Given the description of an element on the screen output the (x, y) to click on. 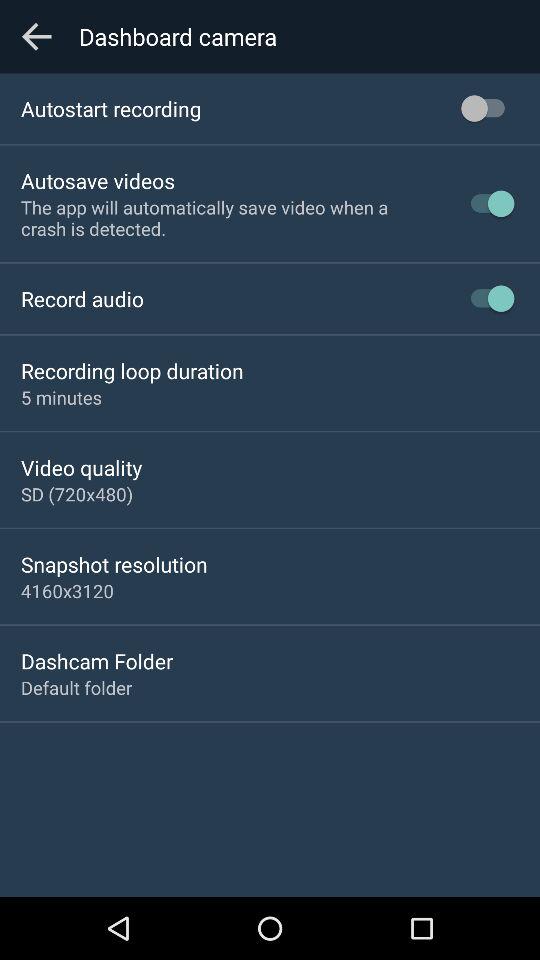
launch app below autosave videos app (228, 218)
